Given the description of an element on the screen output the (x, y) to click on. 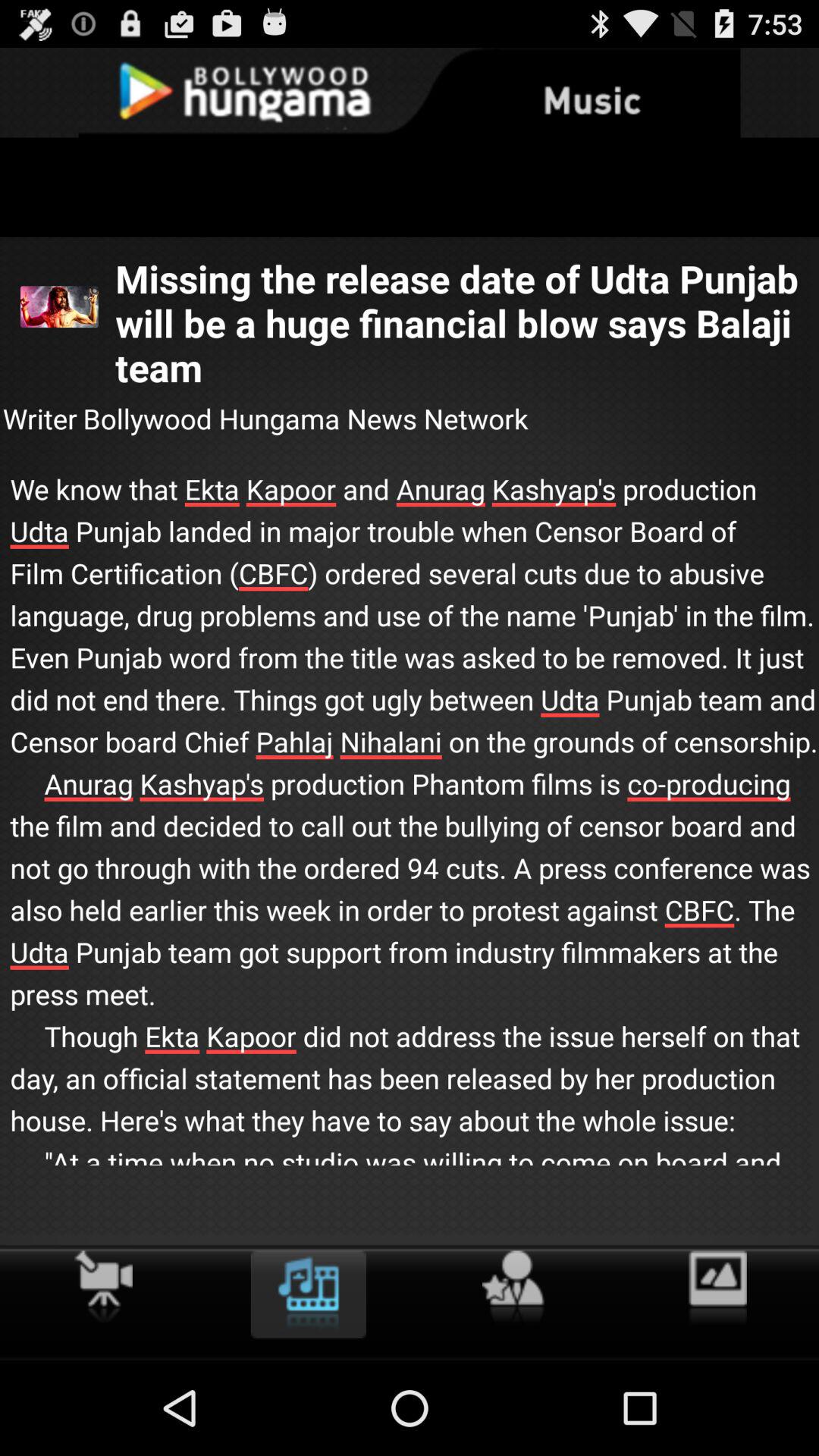
click icon below we know that icon (512, 1287)
